Given the description of an element on the screen output the (x, y) to click on. 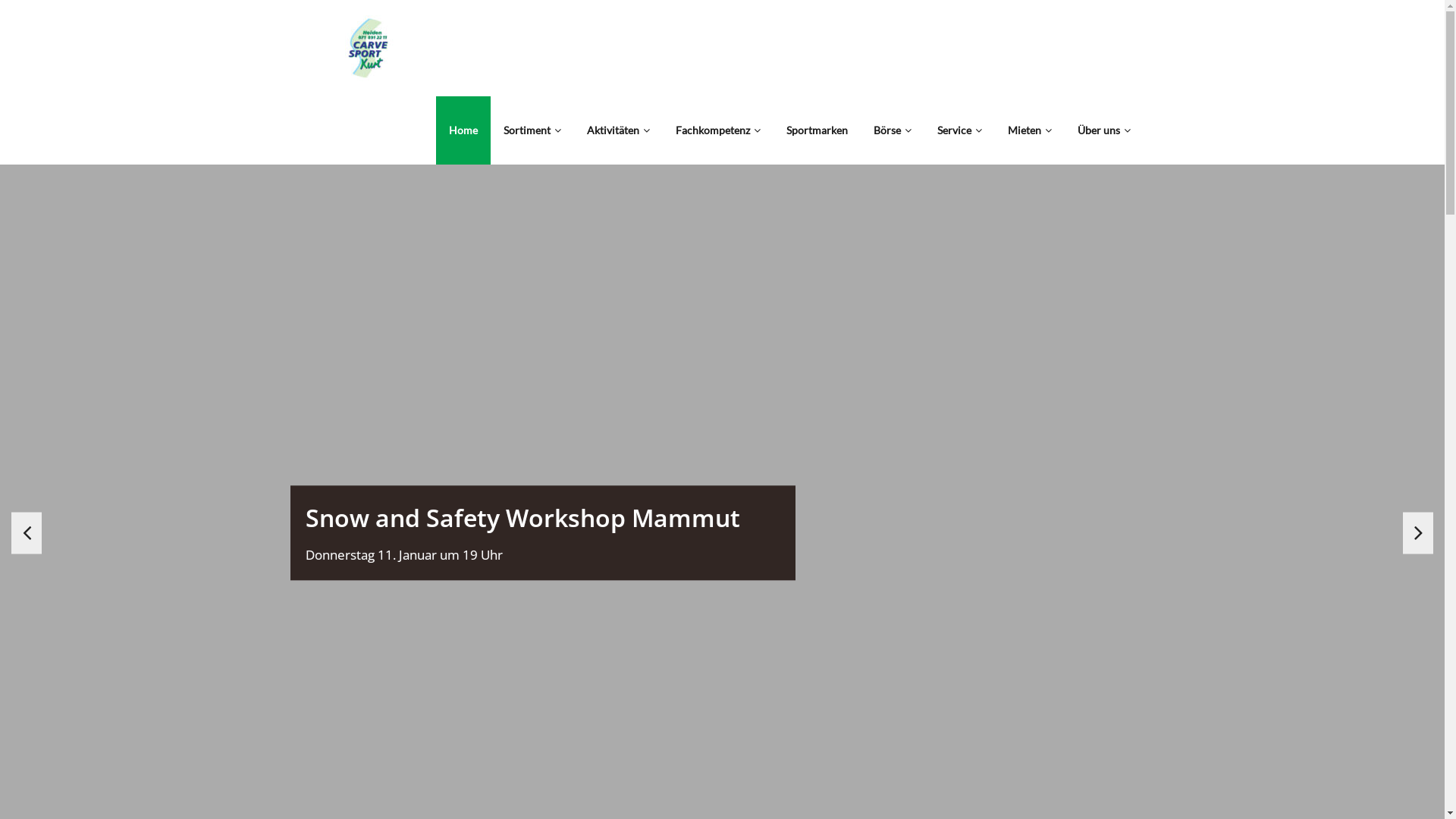
Home Element type: text (462, 130)
Fachkompetenz Element type: text (717, 130)
Service Element type: text (958, 130)
Sortiment Element type: text (531, 130)
Sportmarken Element type: text (816, 130)
Mieten Element type: text (1029, 130)
